Given the description of an element on the screen output the (x, y) to click on. 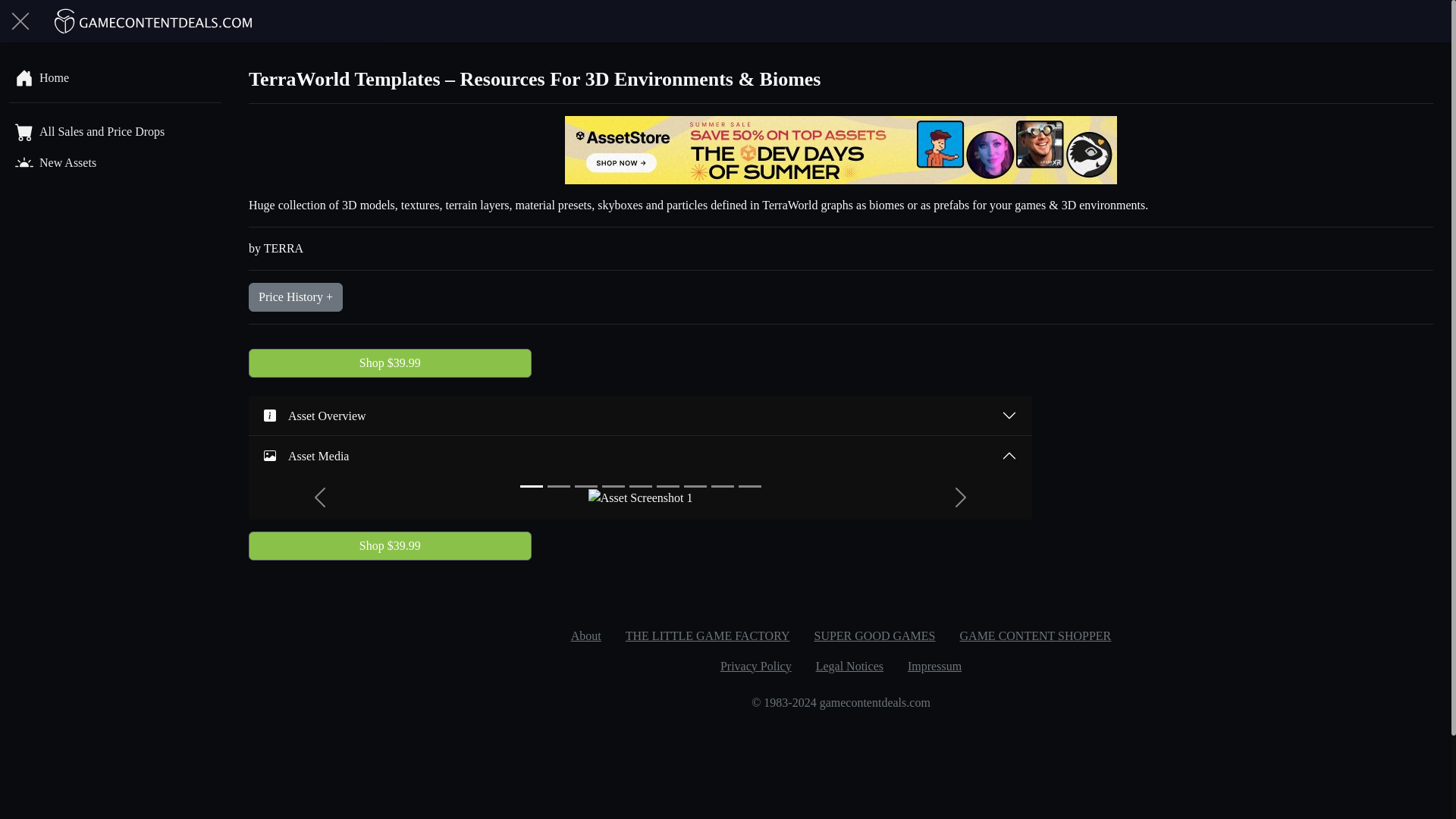
Asset Overview (640, 414)
Home (114, 77)
Previous (320, 496)
THE LITTLE GAME FACTORY (707, 635)
SUPER GOOD GAMES (874, 635)
New Assets (114, 162)
Asset Media (640, 455)
All Sales and Price Drops (114, 130)
About (585, 635)
Next (960, 496)
